Given the description of an element on the screen output the (x, y) to click on. 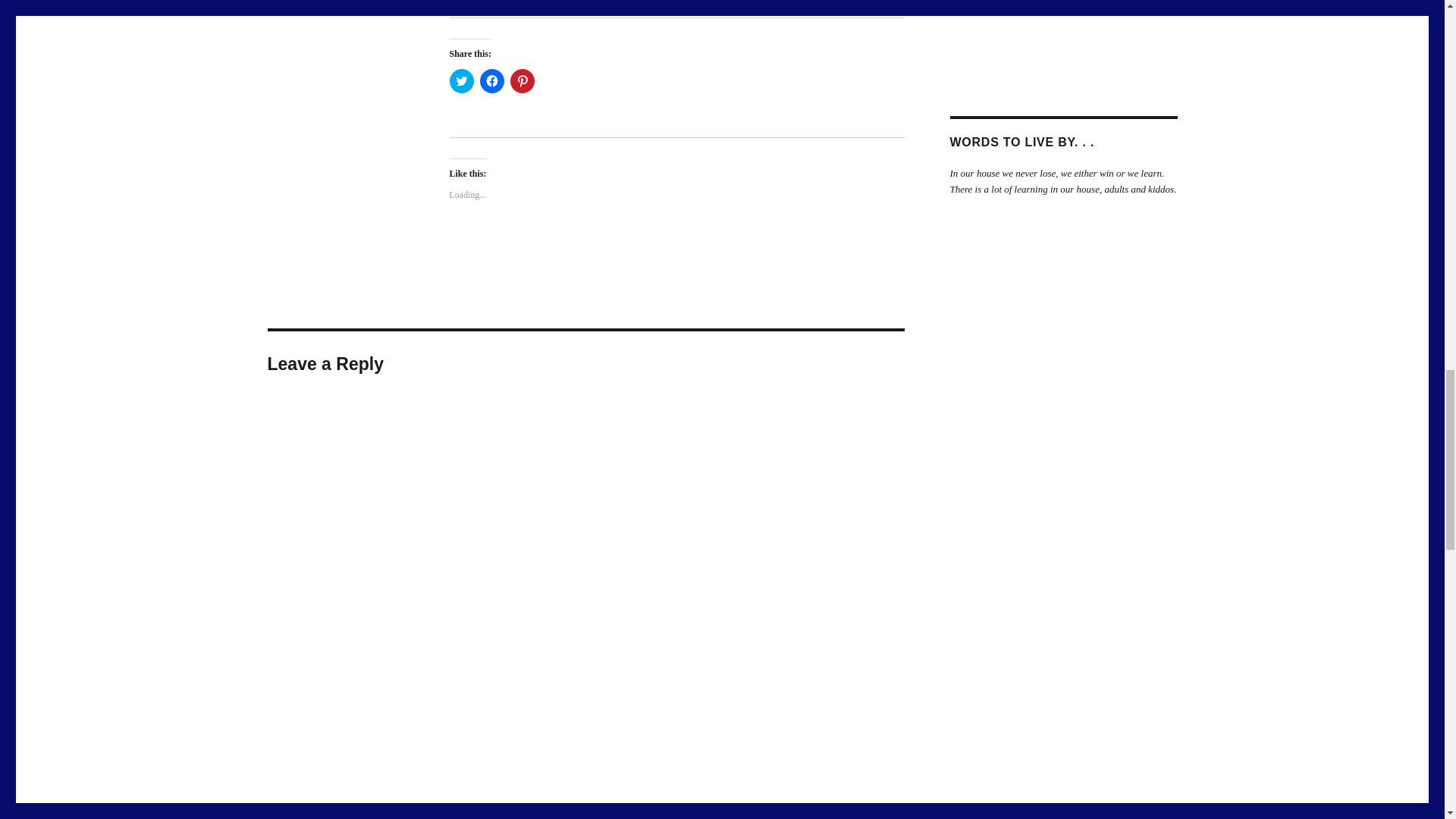
Click to share on Twitter (460, 80)
Click to share on Pinterest (521, 80)
Click to share on Facebook (491, 80)
